Given the description of an element on the screen output the (x, y) to click on. 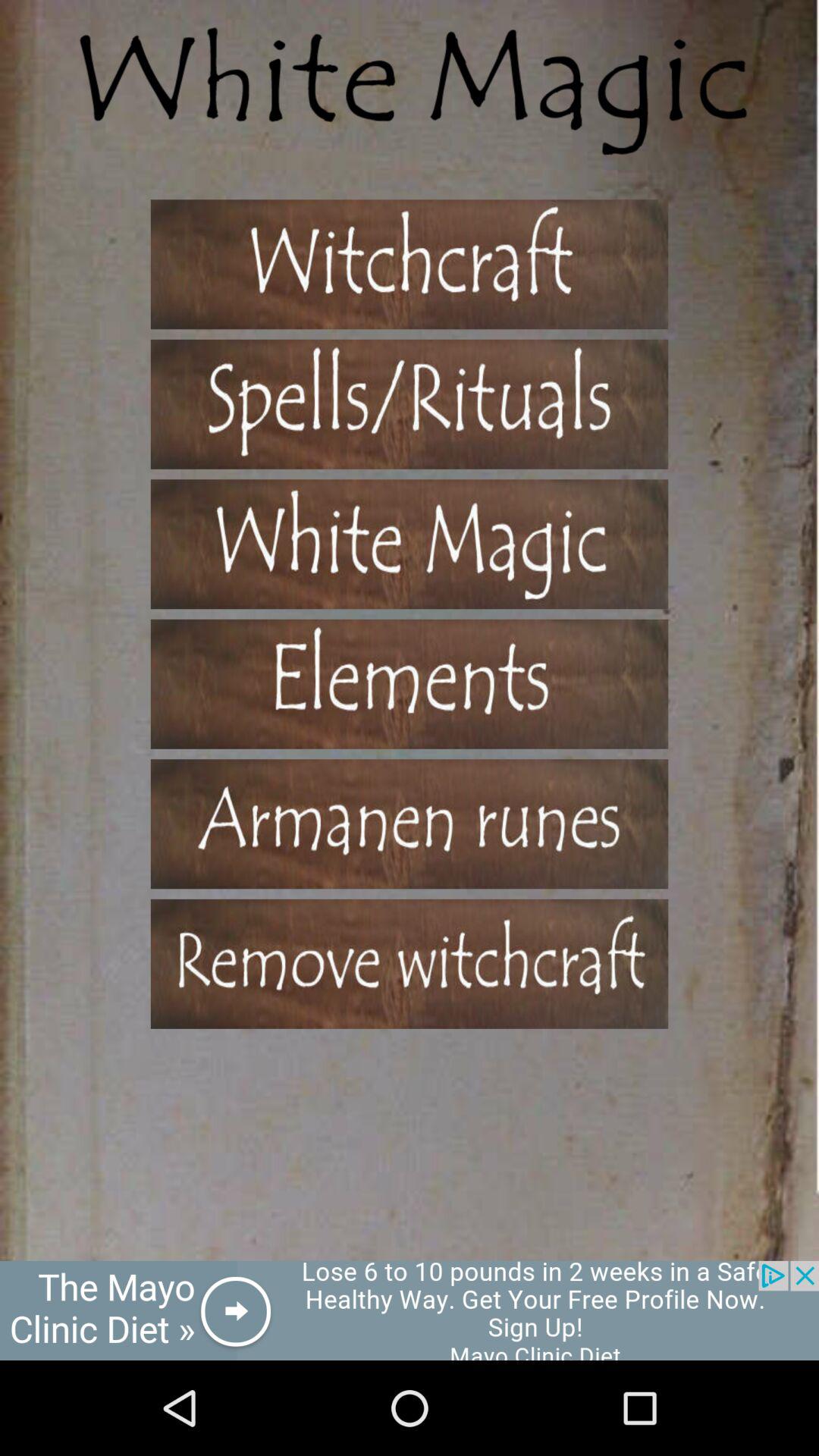
select page (409, 264)
